Given the description of an element on the screen output the (x, y) to click on. 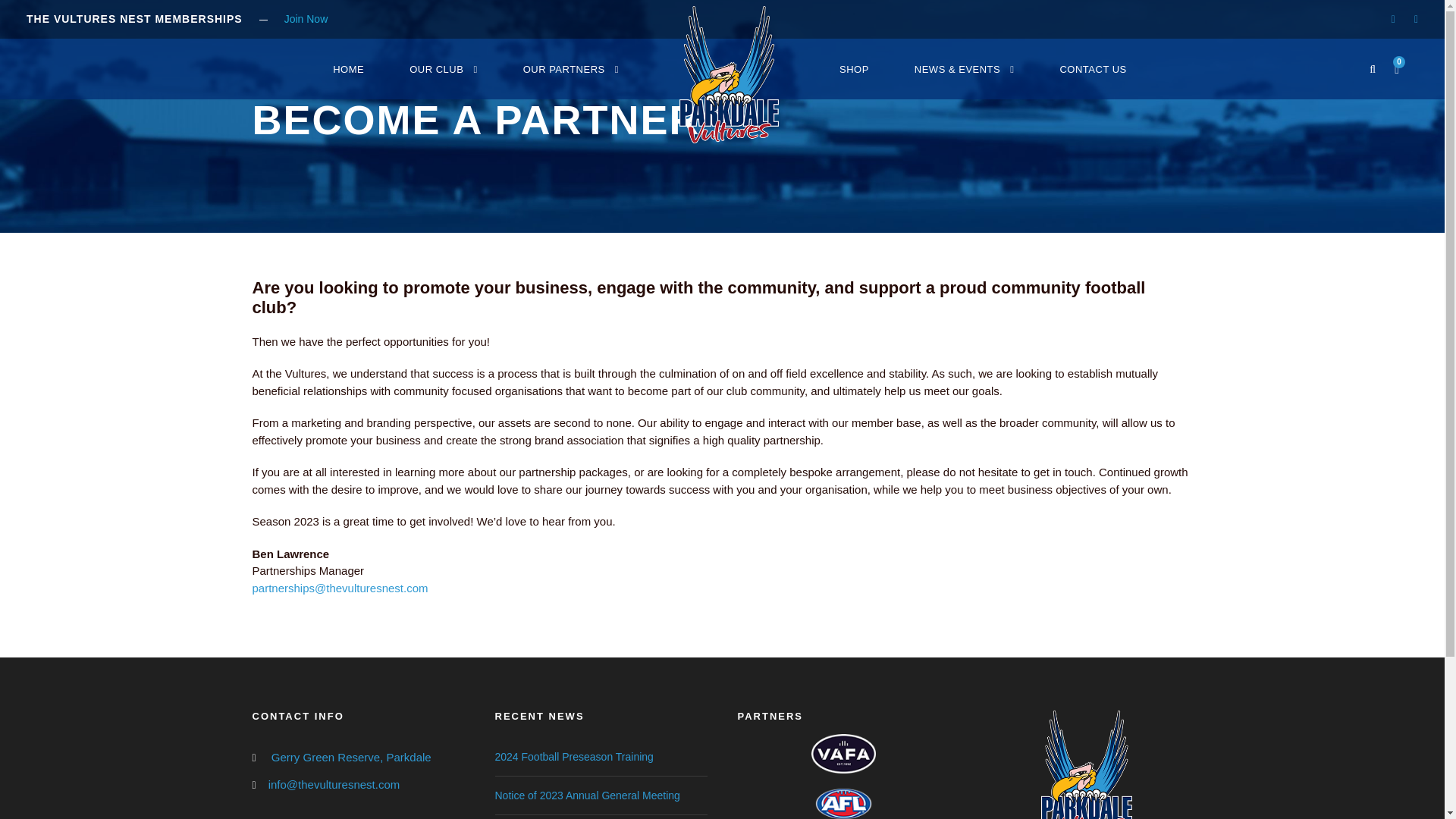
OUR PARTNERS (570, 80)
CONTACT US (1092, 80)
Join Now (306, 19)
OUR CLUB (443, 80)
